Given the description of an element on the screen output the (x, y) to click on. 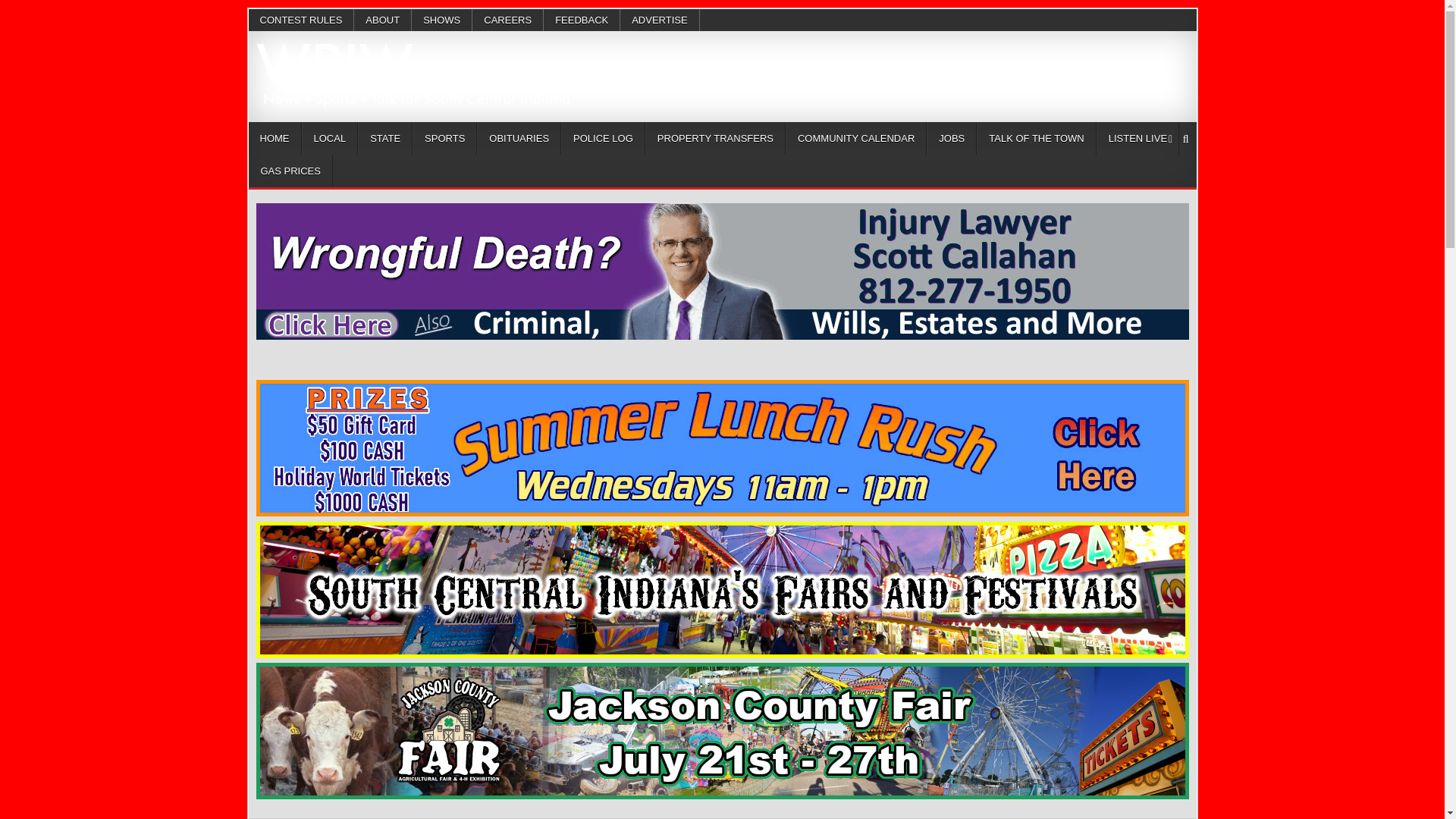
CAREERS (507, 20)
FEEDBACK (581, 20)
ABOUT (382, 20)
SHOWS (441, 20)
LOCAL (329, 138)
SPORTS (444, 138)
HOME (274, 138)
Search (1185, 139)
STATE (385, 138)
CONTEST RULES (301, 20)
ADVERTISE (659, 20)
